Given the description of an element on the screen output the (x, y) to click on. 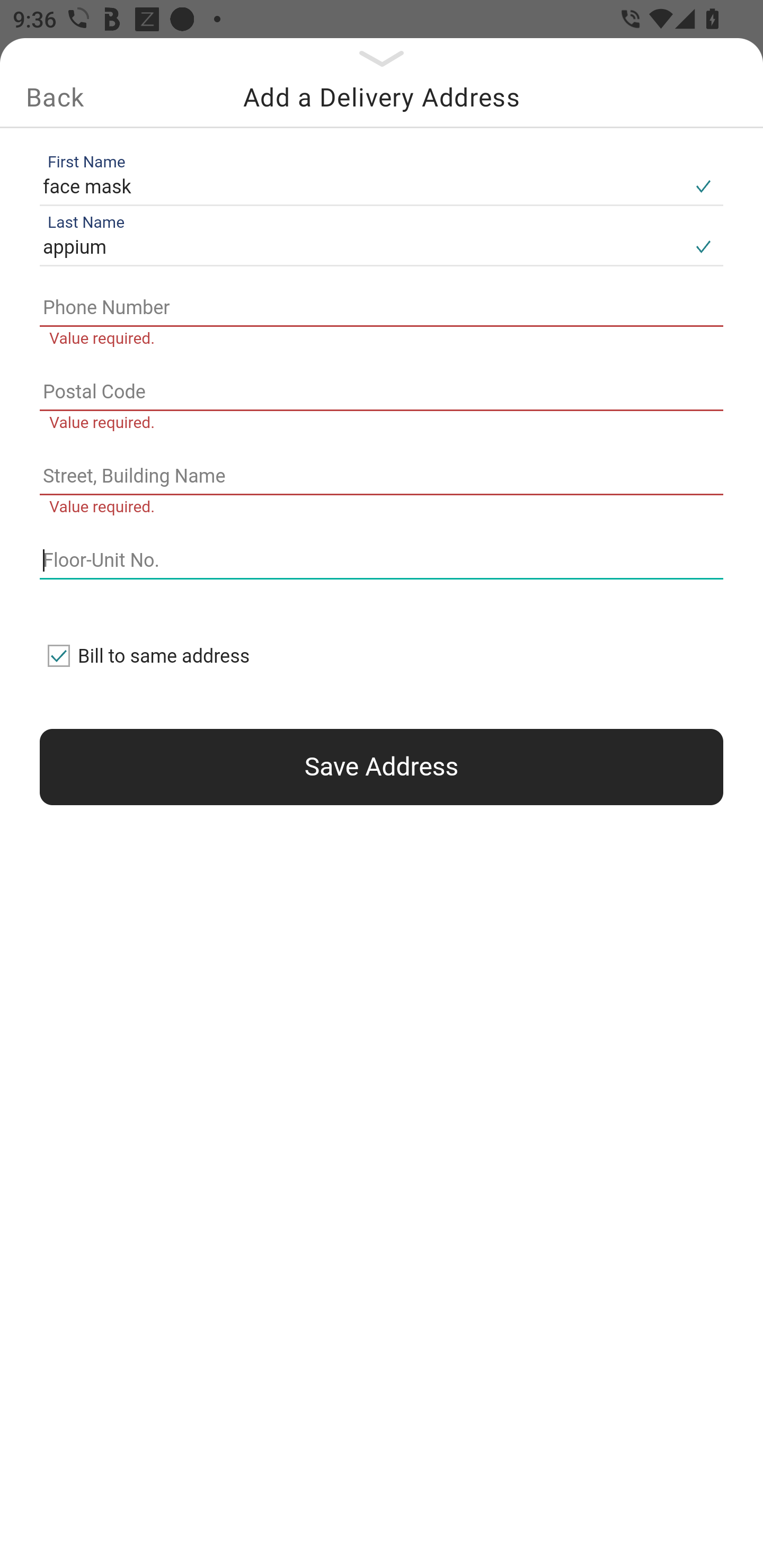
Back (54, 96)
Add a Delivery Address (381, 96)
face mask (361, 186)
appium (361, 247)
Save Address (381, 767)
